Given the description of an element on the screen output the (x, y) to click on. 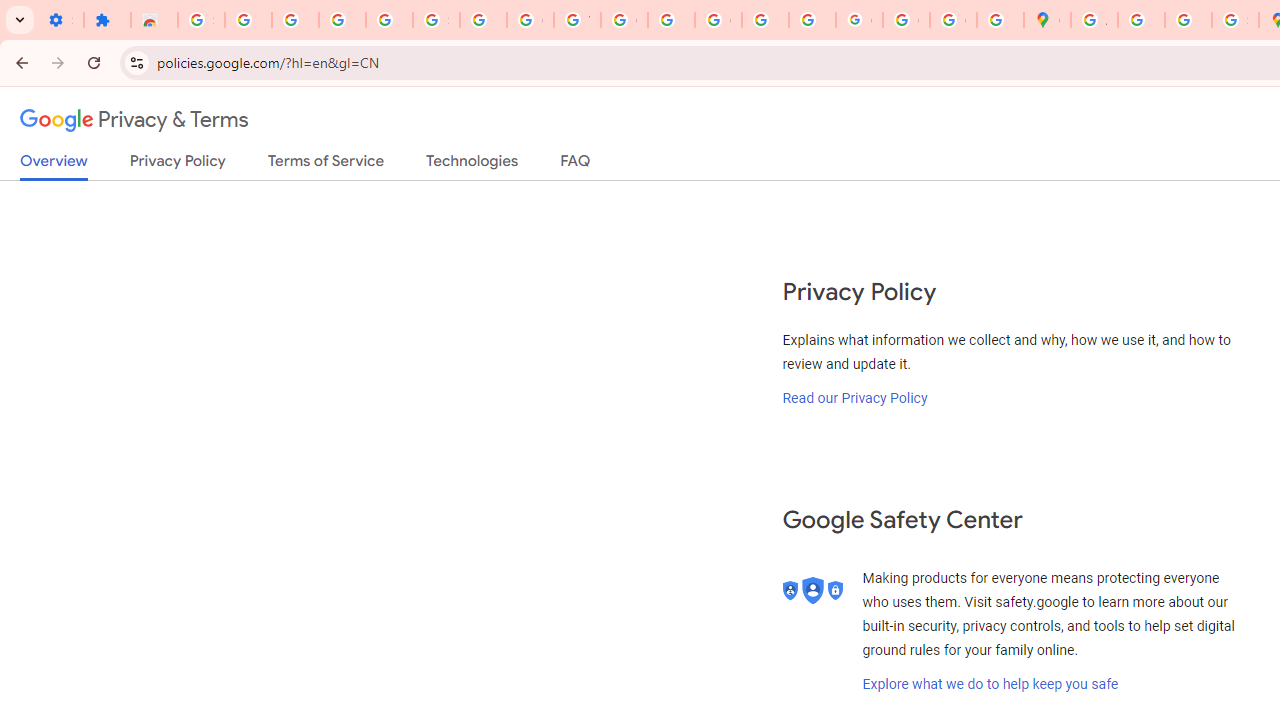
Reviews: Helix Fruit Jump Arcade Game (153, 20)
Read our Privacy Policy (855, 397)
Google Account (530, 20)
Explore what we do to help keep you safe (989, 683)
